Given the description of an element on the screen output the (x, y) to click on. 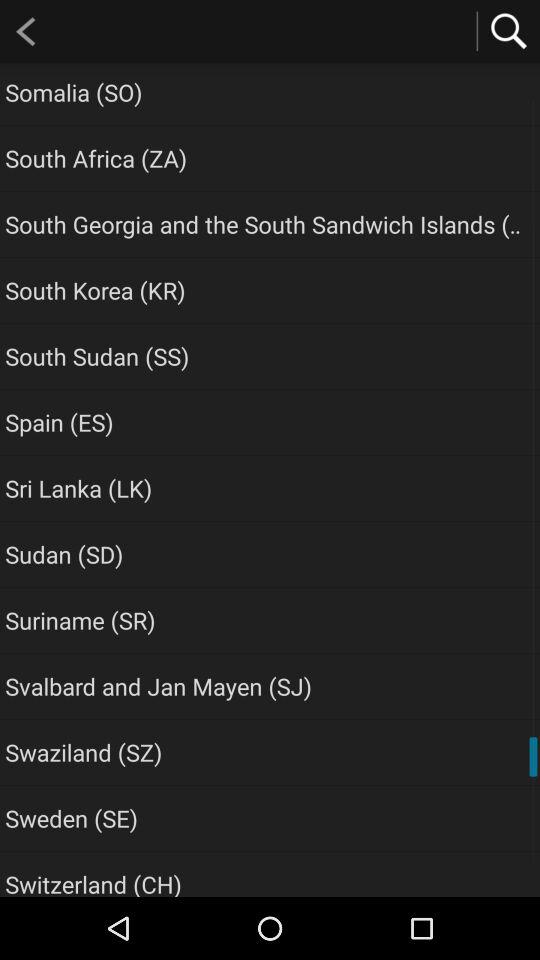
select the south georgia and item (265, 224)
